Given the description of an element on the screen output the (x, y) to click on. 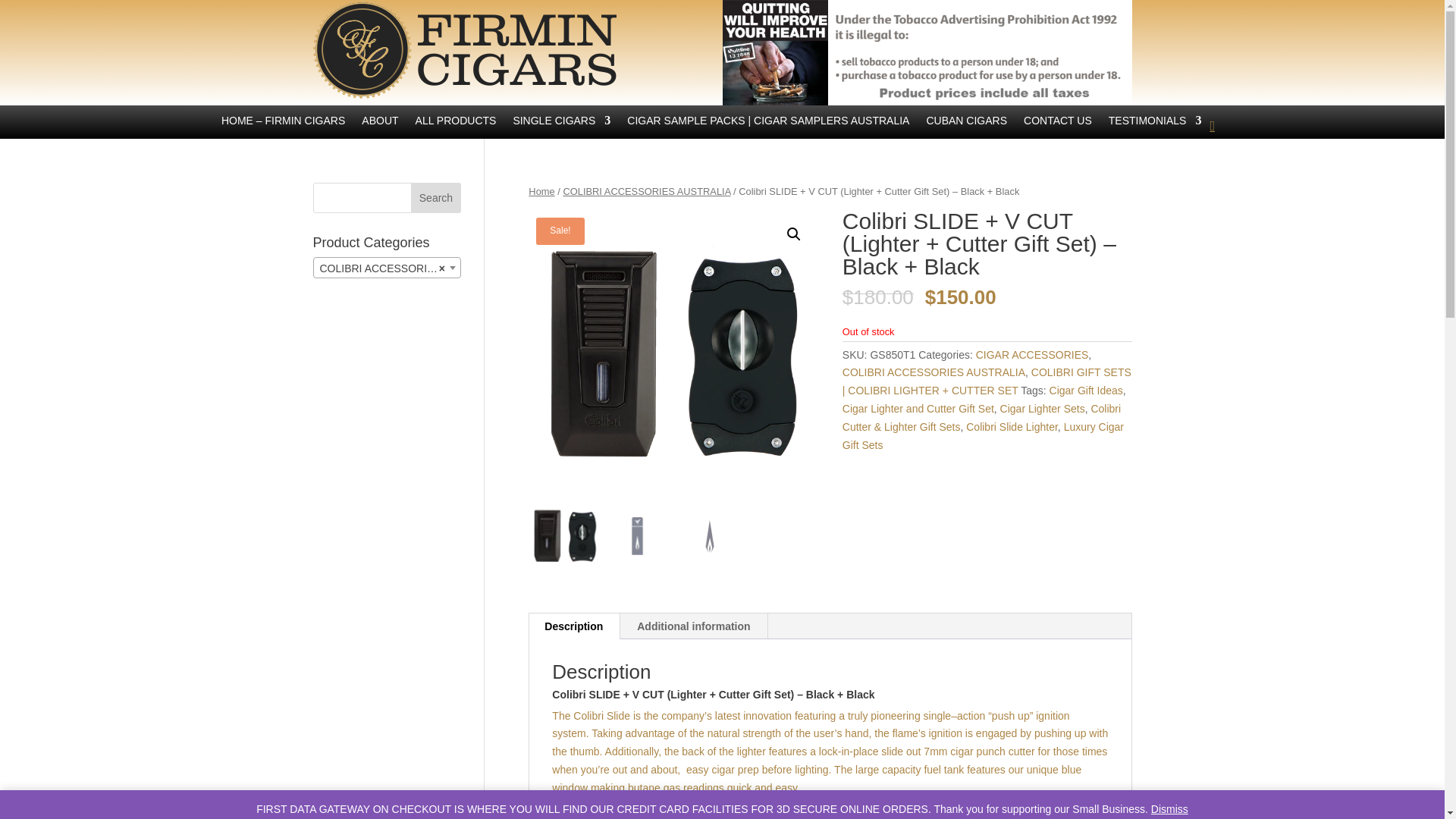
Search (435, 197)
SINGLE CIGARS (561, 131)
Home (541, 191)
Luxury Cigar Gift Sets (983, 435)
COLIBRI ACCESSORIES AUSTRALIA (387, 268)
Cigar Gift Ideas (1085, 390)
Colibri Slide Lighter (1012, 426)
ABOUT (379, 131)
TESTIMONIALS (1155, 131)
CUBAN CIGARS (966, 131)
CONTACT US (1057, 131)
Description (573, 626)
COLIBRI ACCESSORIES AUSTRALIA (934, 372)
Cigar Lighter Sets (1042, 408)
CIGAR ACCESSORIES (1032, 354)
